Given the description of an element on the screen output the (x, y) to click on. 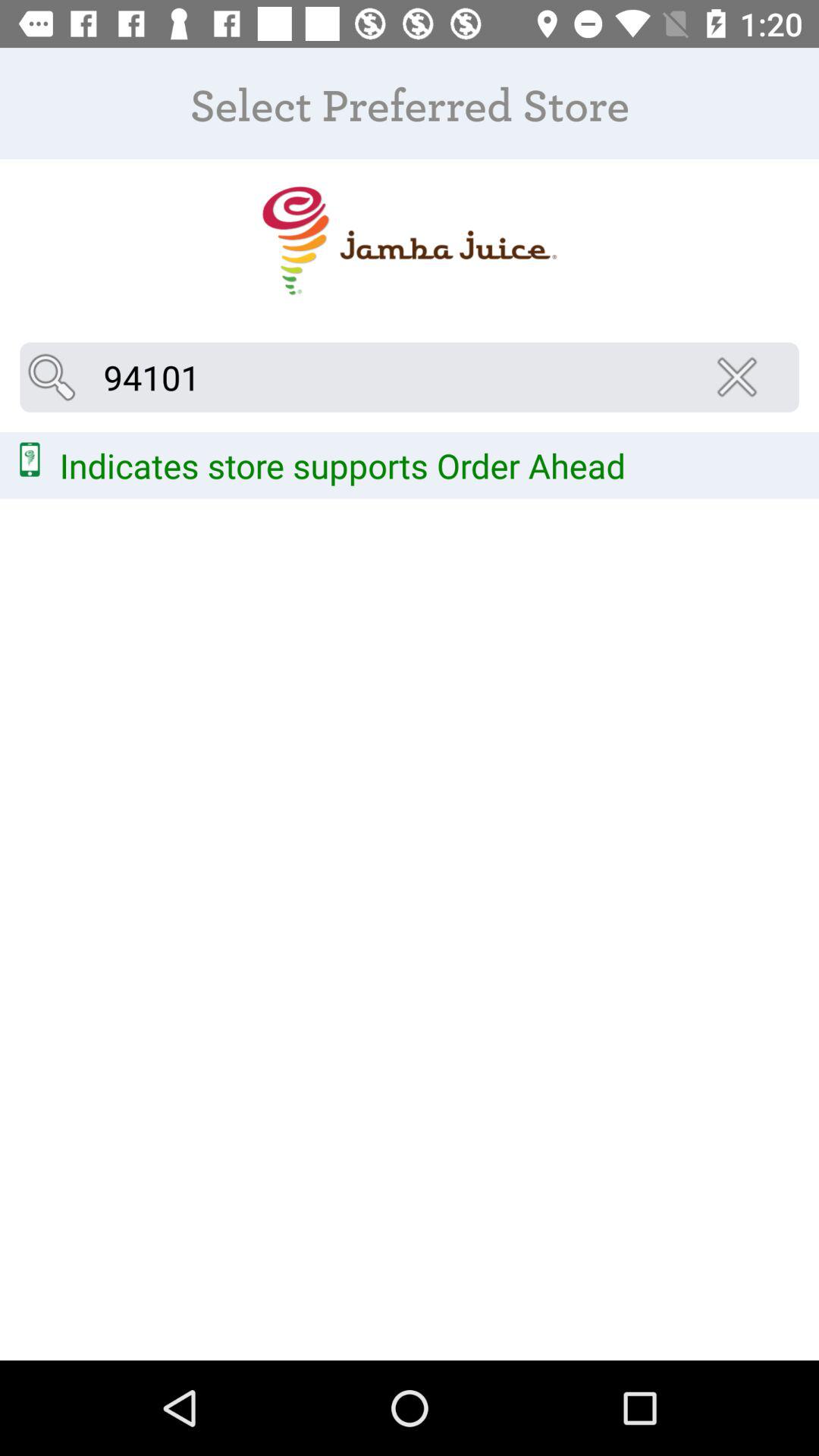
select the item below the select preferred store icon (408, 240)
